Given the description of an element on the screen output the (x, y) to click on. 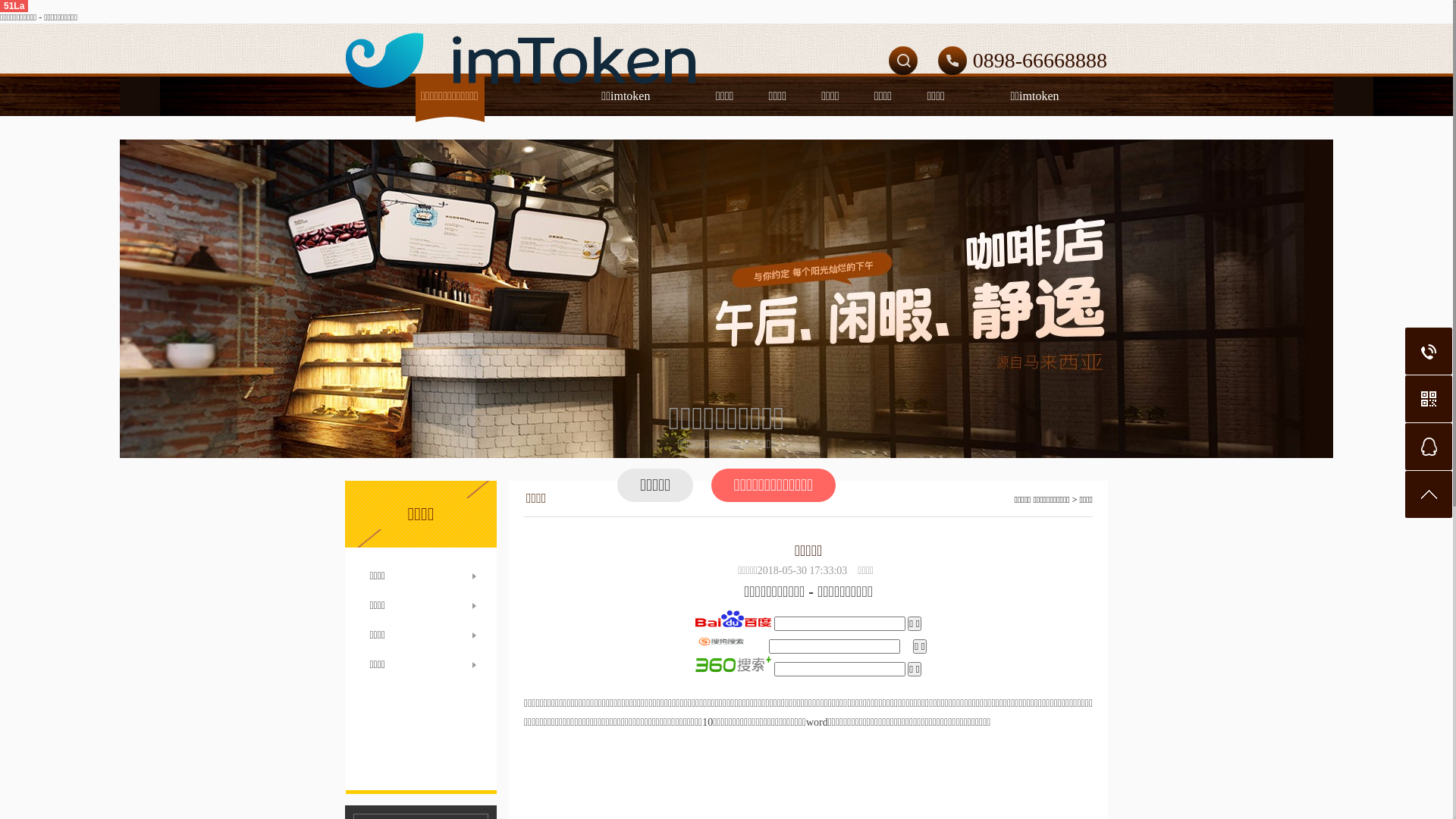
51La Element type: text (14, 5)
